Given the description of an element on the screen output the (x, y) to click on. 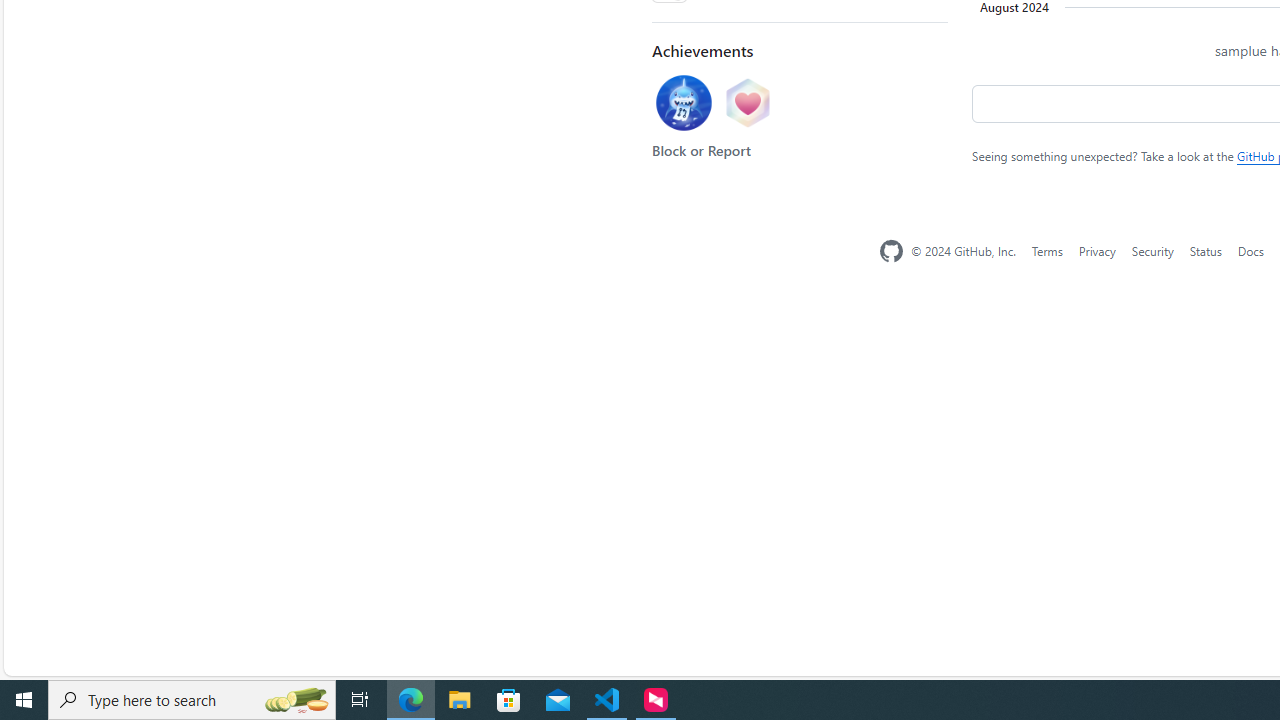
Homepage (891, 251)
Security (1152, 250)
